Given the description of an element on the screen output the (x, y) to click on. 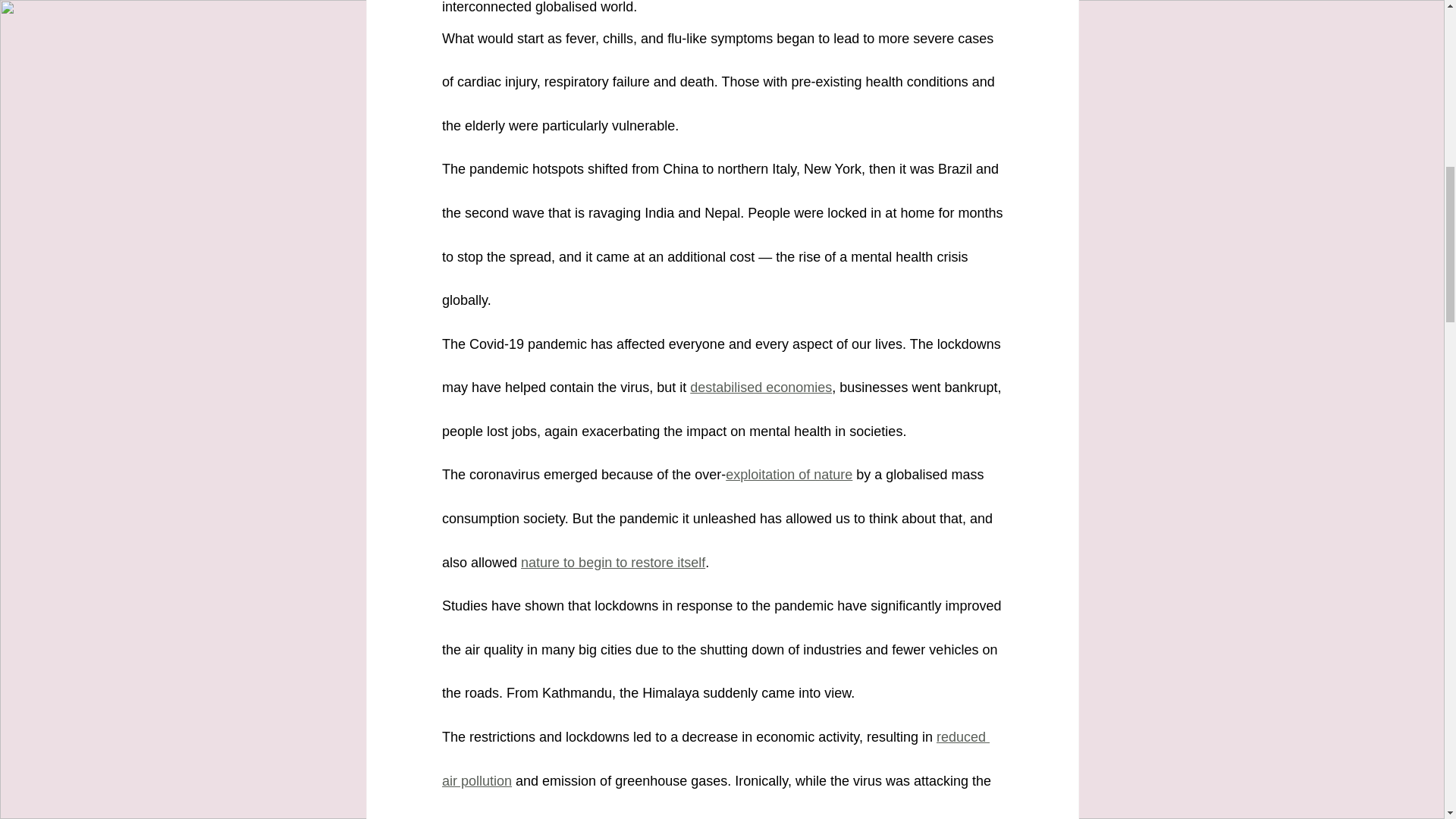
destabilised economies (760, 387)
nature to begin to restore itself (612, 562)
exploitation of nature (788, 474)
reduced air pollution (714, 758)
